Given the description of an element on the screen output the (x, y) to click on. 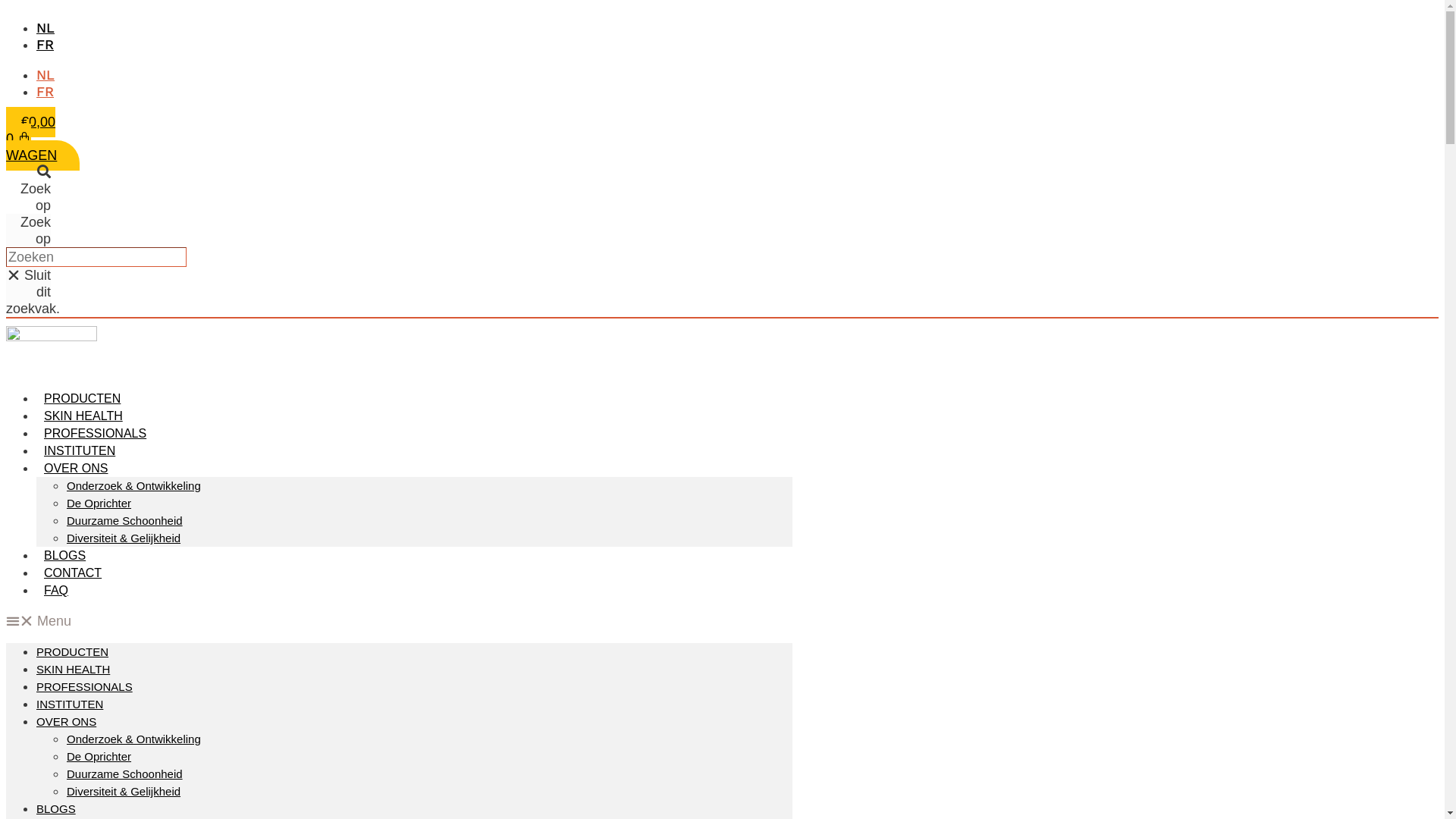
Diversiteit & Gelijkheid Element type: text (123, 790)
NL Element type: text (45, 27)
FR Element type: text (44, 91)
De Oprichter Element type: text (98, 755)
SKIN HEALTH Element type: text (83, 415)
BLOGS Element type: text (55, 808)
De Oprichter Element type: text (98, 502)
Duurzame Schoonheid Element type: text (124, 520)
PRODUCTEN Element type: text (82, 398)
BLOGS Element type: text (64, 555)
CONTACT Element type: text (72, 572)
Onderzoek & Ontwikkeling Element type: text (133, 485)
PROFESSIONALS Element type: text (84, 686)
FR Element type: text (44, 43)
PRODUCTEN Element type: text (72, 651)
OVER ONS Element type: text (75, 468)
INSTITUTEN Element type: text (69, 703)
Onderzoek & Ontwikkeling Element type: text (133, 738)
NL Element type: text (45, 74)
FAQ Element type: text (55, 590)
Ga naar de inhoud Element type: text (5, 5)
Diversiteit & Gelijkheid Element type: text (123, 537)
SKIN HEALTH Element type: text (72, 668)
INSTITUTEN Element type: text (79, 450)
PROFESSIONALS Element type: text (94, 433)
OVER ONS Element type: text (66, 721)
Duurzame Schoonheid Element type: text (124, 773)
